Given the description of an element on the screen output the (x, y) to click on. 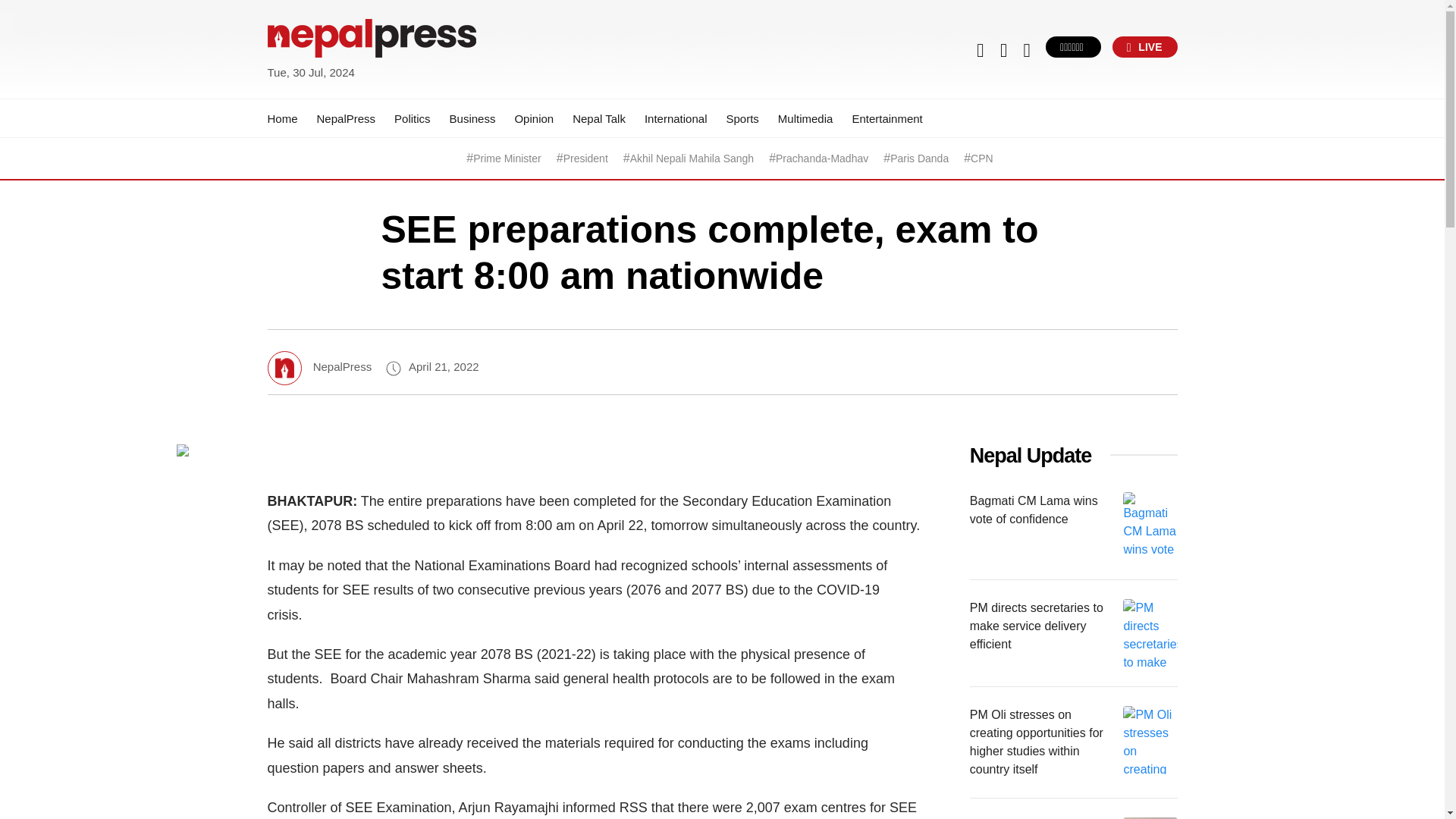
Entertainment (886, 118)
Akhil Nepali Mahila Sangh (692, 158)
Opinion (533, 118)
NepalPress (346, 118)
CPN (981, 158)
Multimedia (804, 118)
Prachanda-Madhav (821, 158)
Prime Minister (506, 158)
Business (472, 118)
Politics (412, 118)
President (585, 158)
LIVE (1144, 46)
Paris Danda (919, 158)
Paris Danda (919, 158)
Prachanda-Madhav (821, 158)
